Given the description of an element on the screen output the (x, y) to click on. 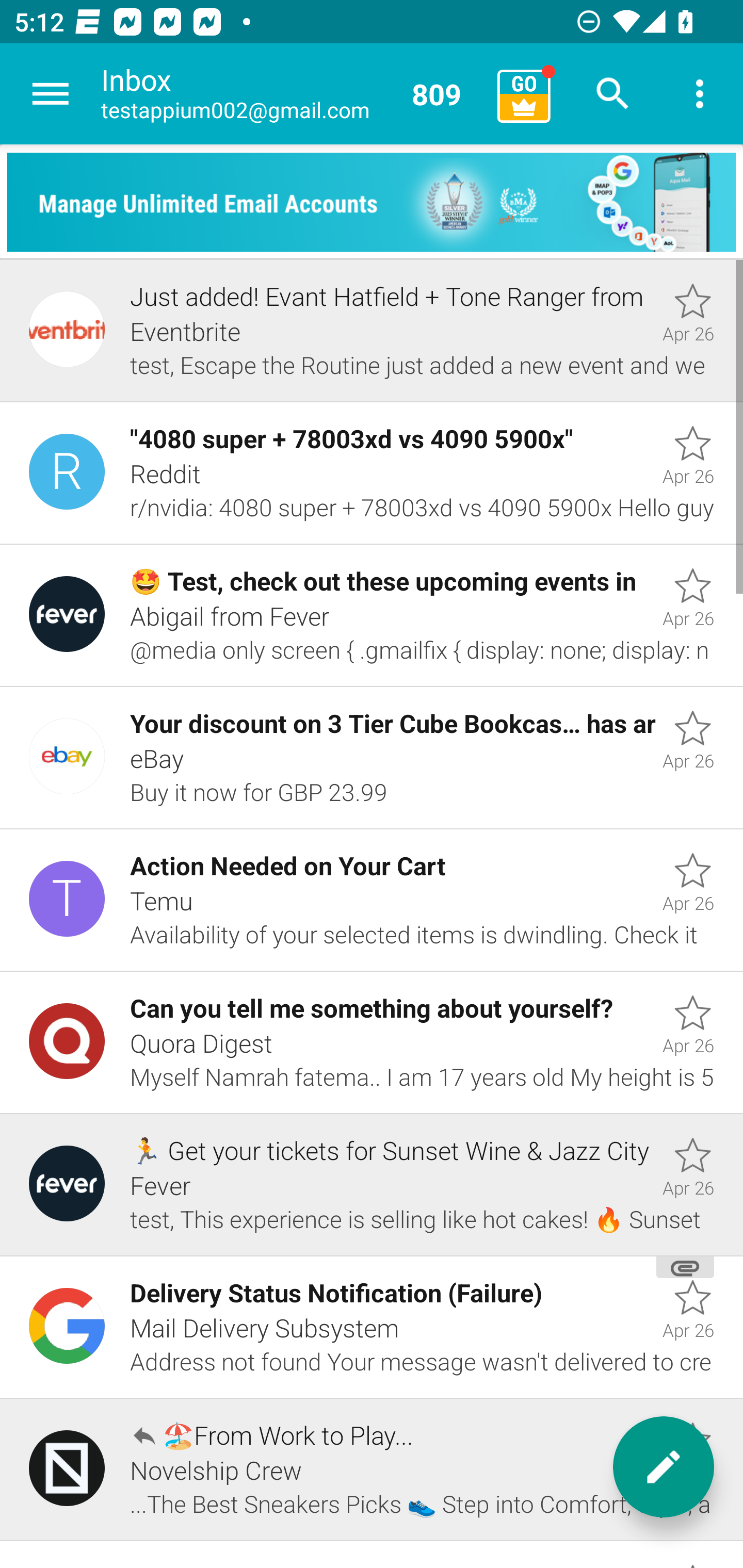
Navigate up (50, 93)
Inbox testappium002@gmail.com 809 (291, 93)
Search (612, 93)
More options (699, 93)
New message (663, 1466)
